Given the description of an element on the screen output the (x, y) to click on. 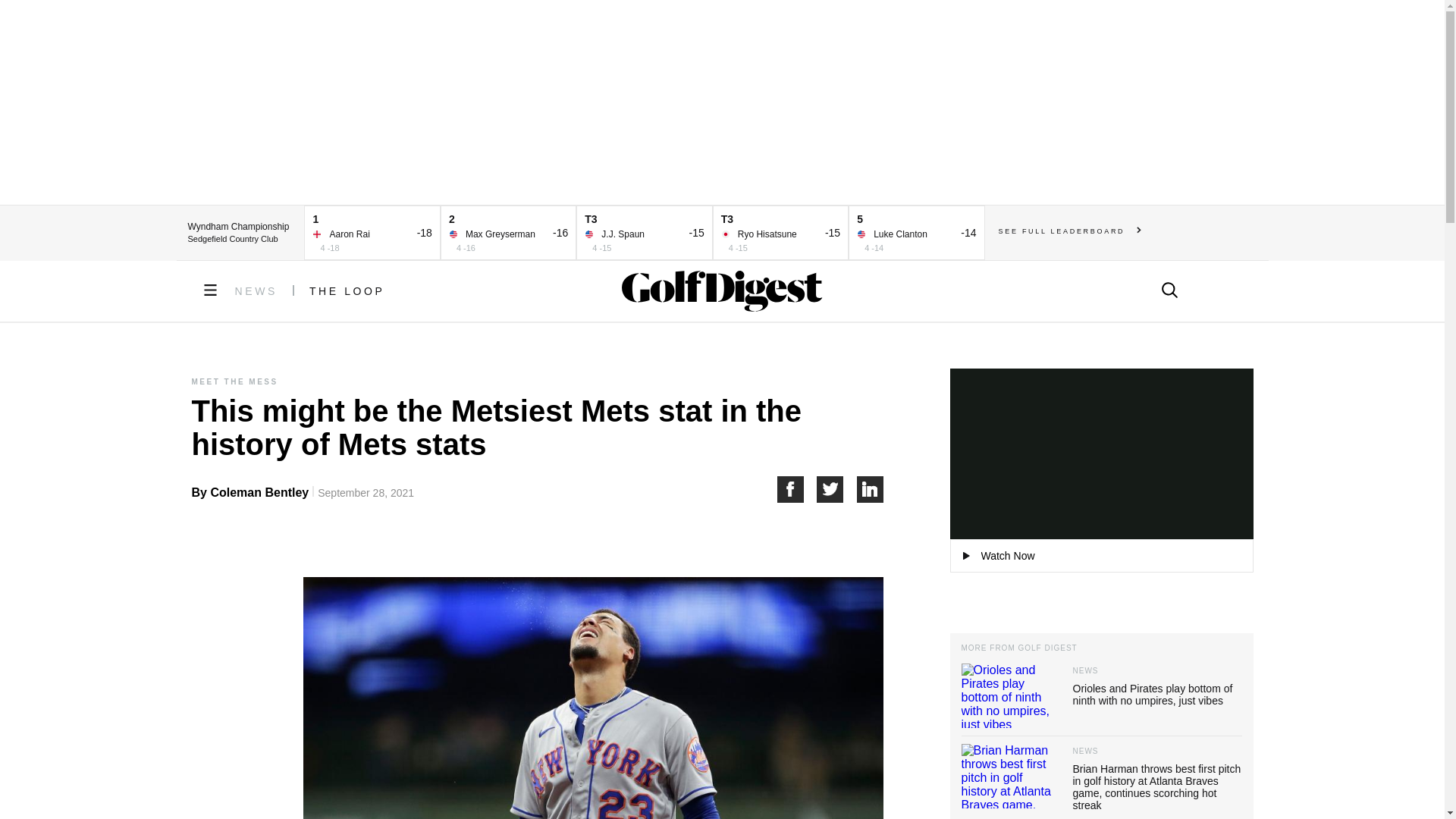
THE LOOP (346, 291)
Share on LinkedIn (870, 488)
Share on Facebook (796, 488)
Share on Twitter (836, 488)
NEWS (256, 291)
SEE FULL LEADERBOARD (1069, 230)
